Given the description of an element on the screen output the (x, y) to click on. 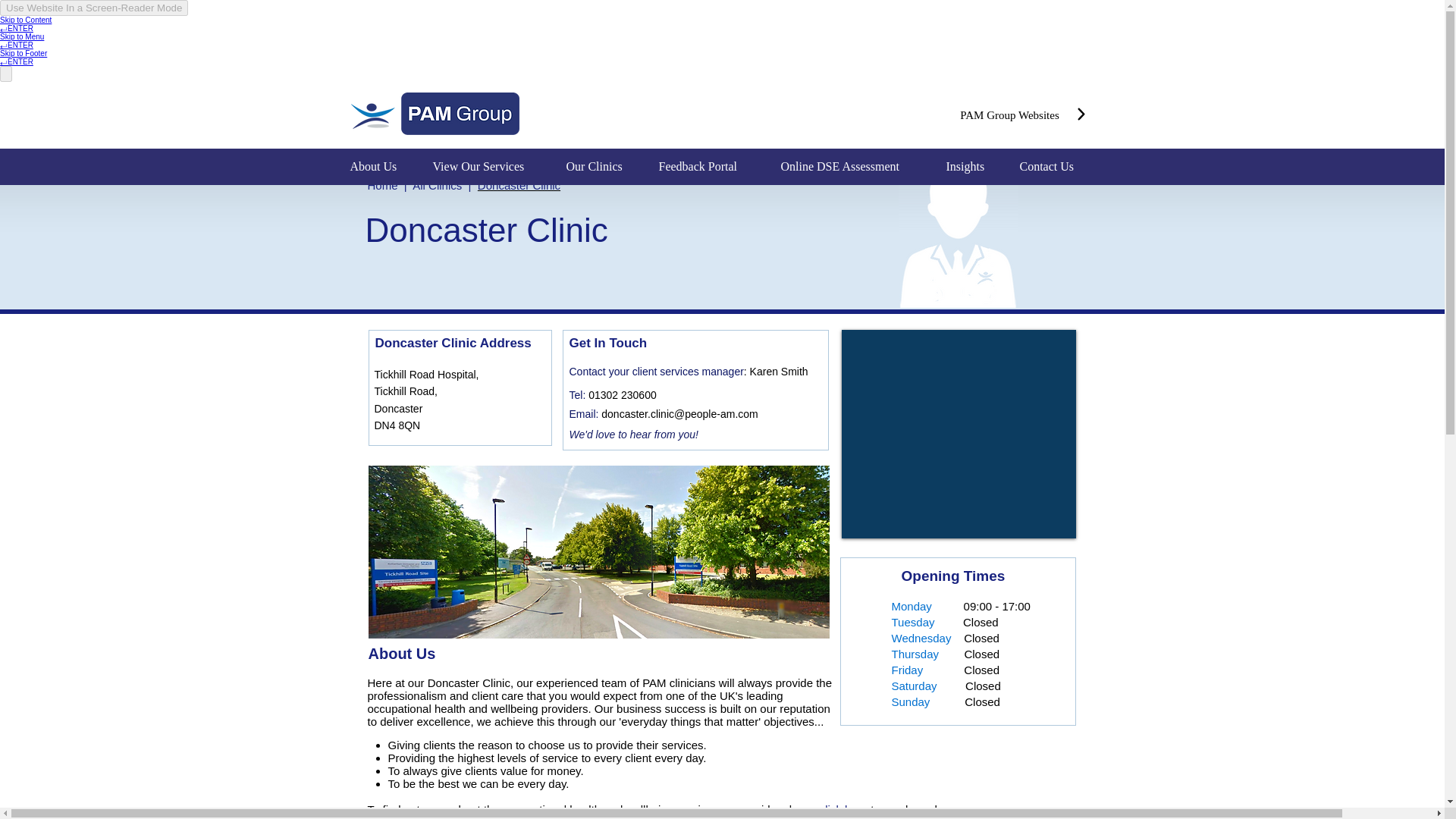
PAM Group Websites (1008, 115)
View Our Services (488, 166)
About Us (378, 166)
Our Clinics (600, 166)
